Given the description of an element on the screen output the (x, y) to click on. 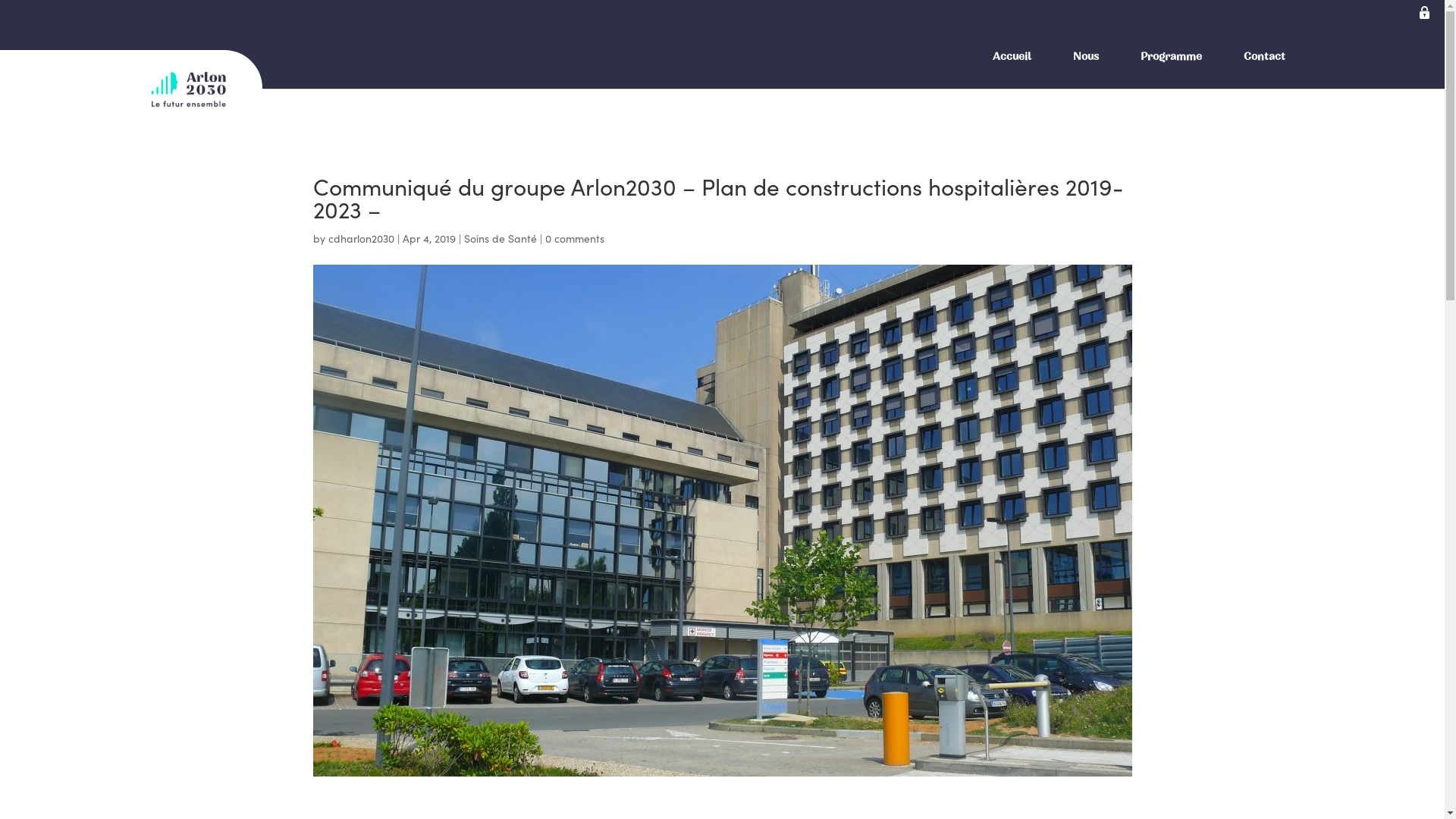
Accueil Element type: text (1011, 56)
Nous Element type: text (1085, 56)
cdharlon2030 Element type: text (360, 237)
0 comments Element type: text (573, 237)
Contact Element type: text (1263, 56)
Programme Element type: text (1170, 56)
